Given the description of an element on the screen output the (x, y) to click on. 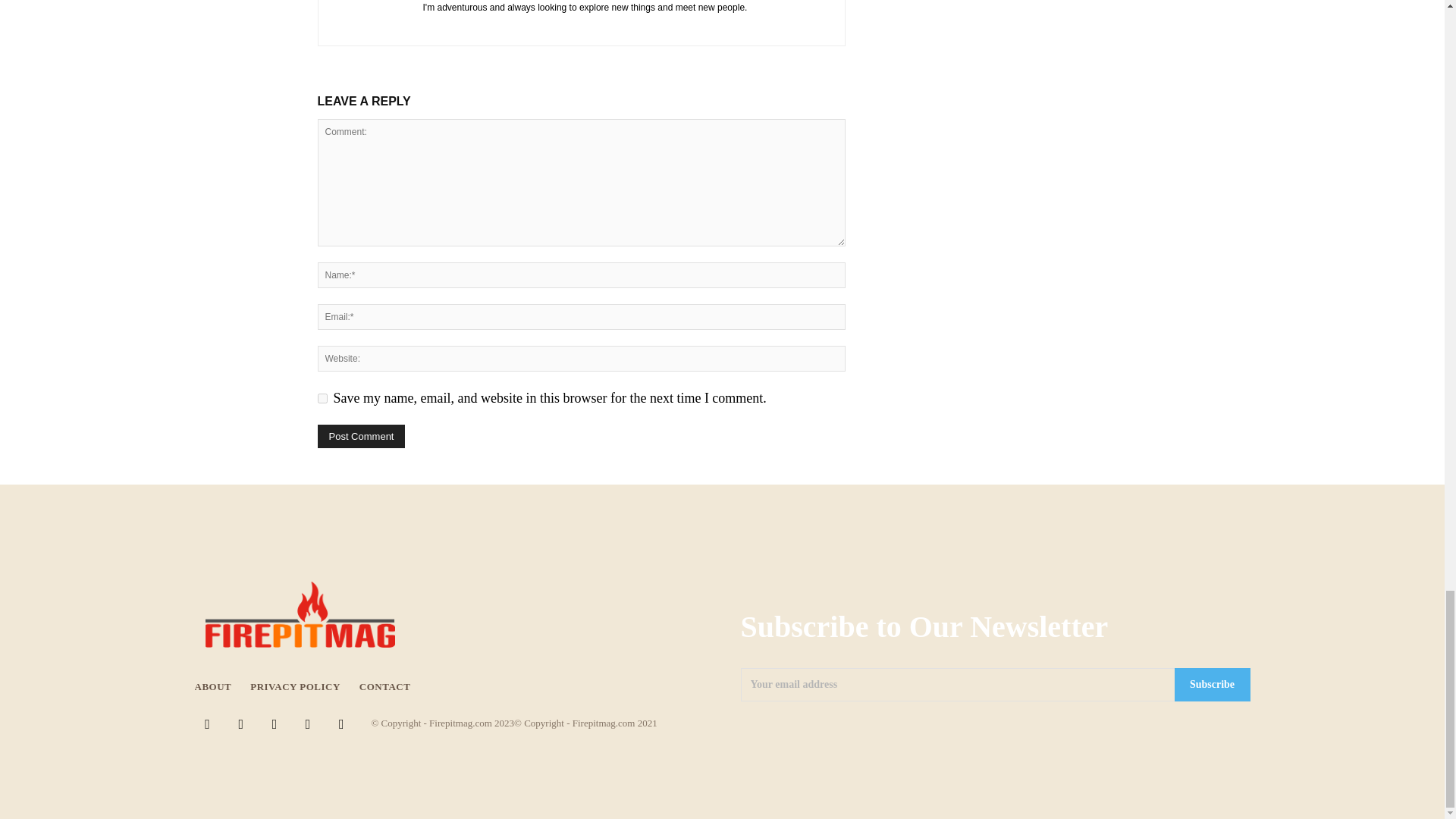
Post Comment (360, 436)
Post Comment (360, 436)
yes (321, 398)
